Given the description of an element on the screen output the (x, y) to click on. 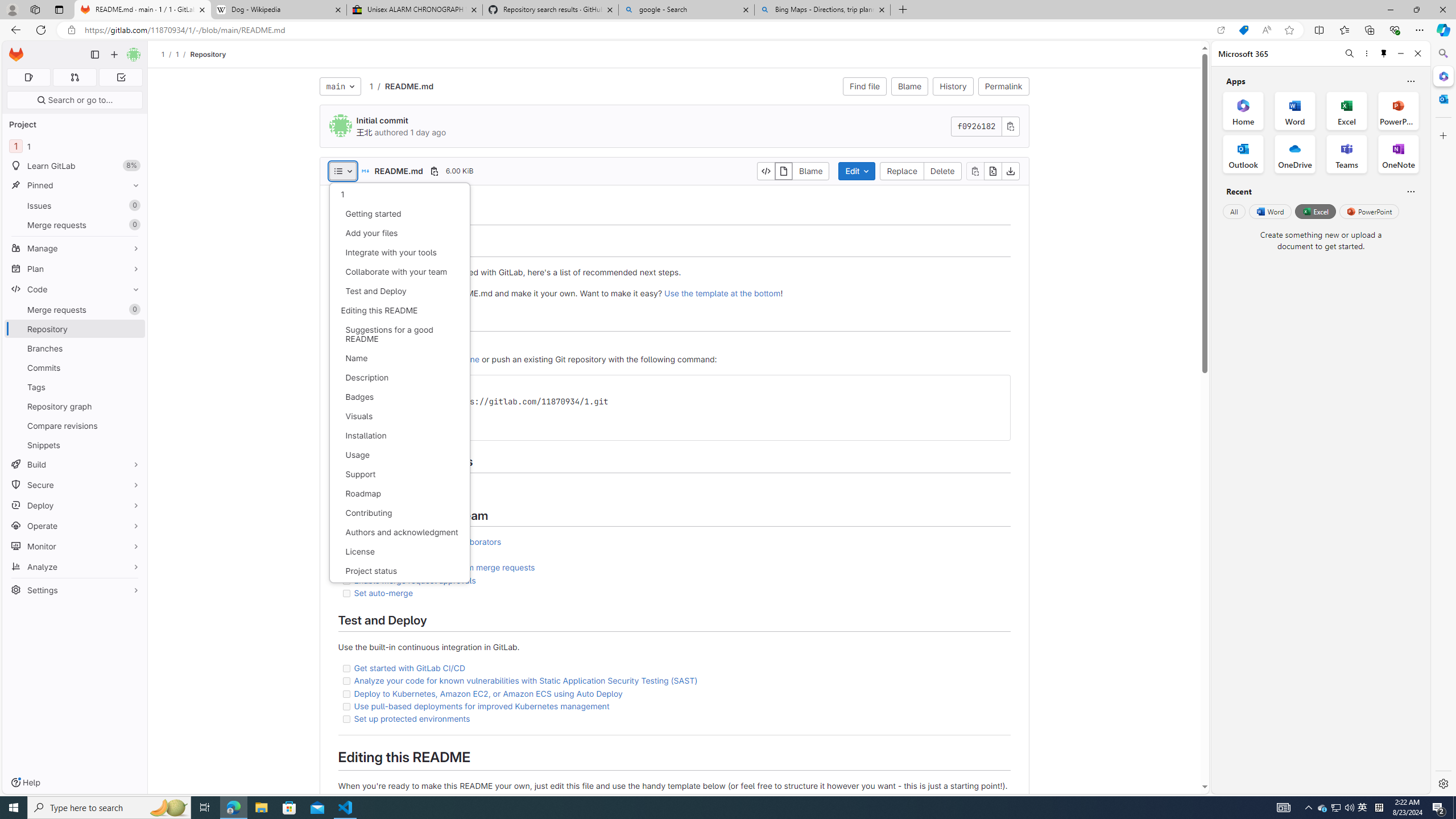
Blame (810, 171)
Excel Office App (1346, 110)
Issues 0 (74, 205)
Badges (399, 397)
Get started with GitLab CI/CD (673, 667)
Set up project integrations (403, 488)
Use the template at the bottom (721, 293)
Authors and acknowledgment (399, 532)
Merge requests0 (74, 309)
Monitor (74, 546)
Replace (901, 171)
1 (399, 194)
